Given the description of an element on the screen output the (x, y) to click on. 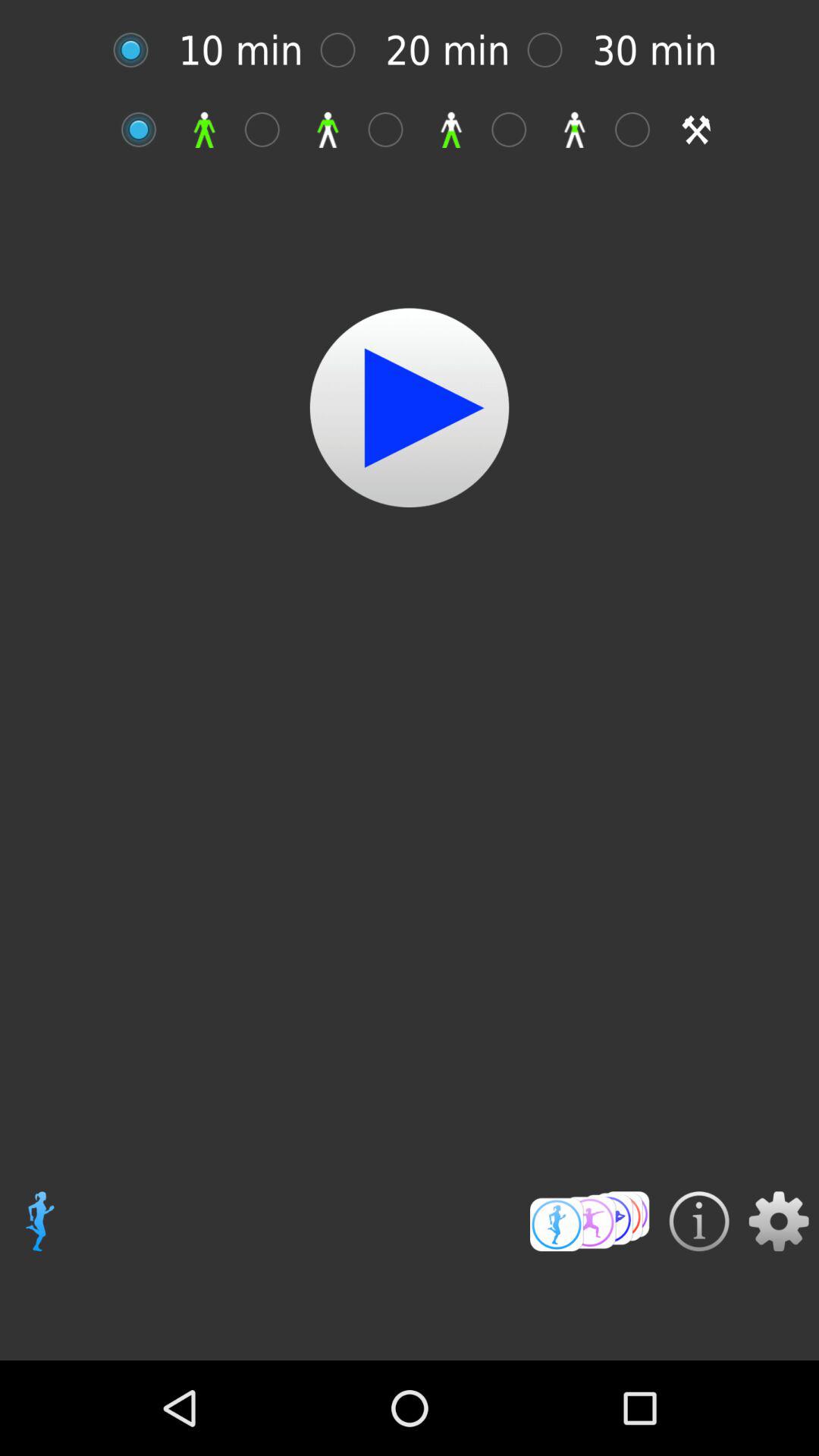
shows mark place (552, 49)
